Given the description of an element on the screen output the (x, y) to click on. 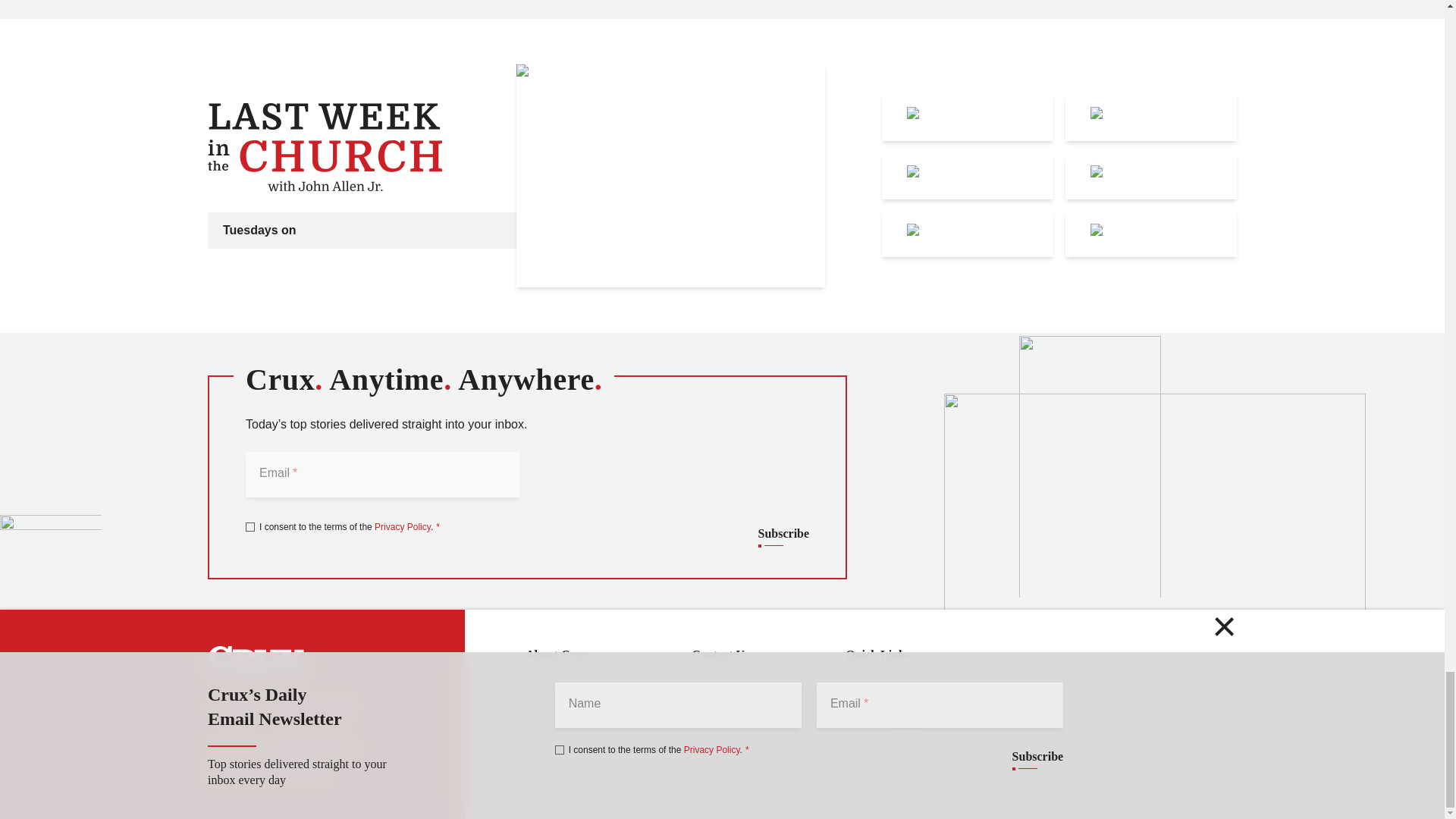
true (250, 526)
